Given the description of an element on the screen output the (x, y) to click on. 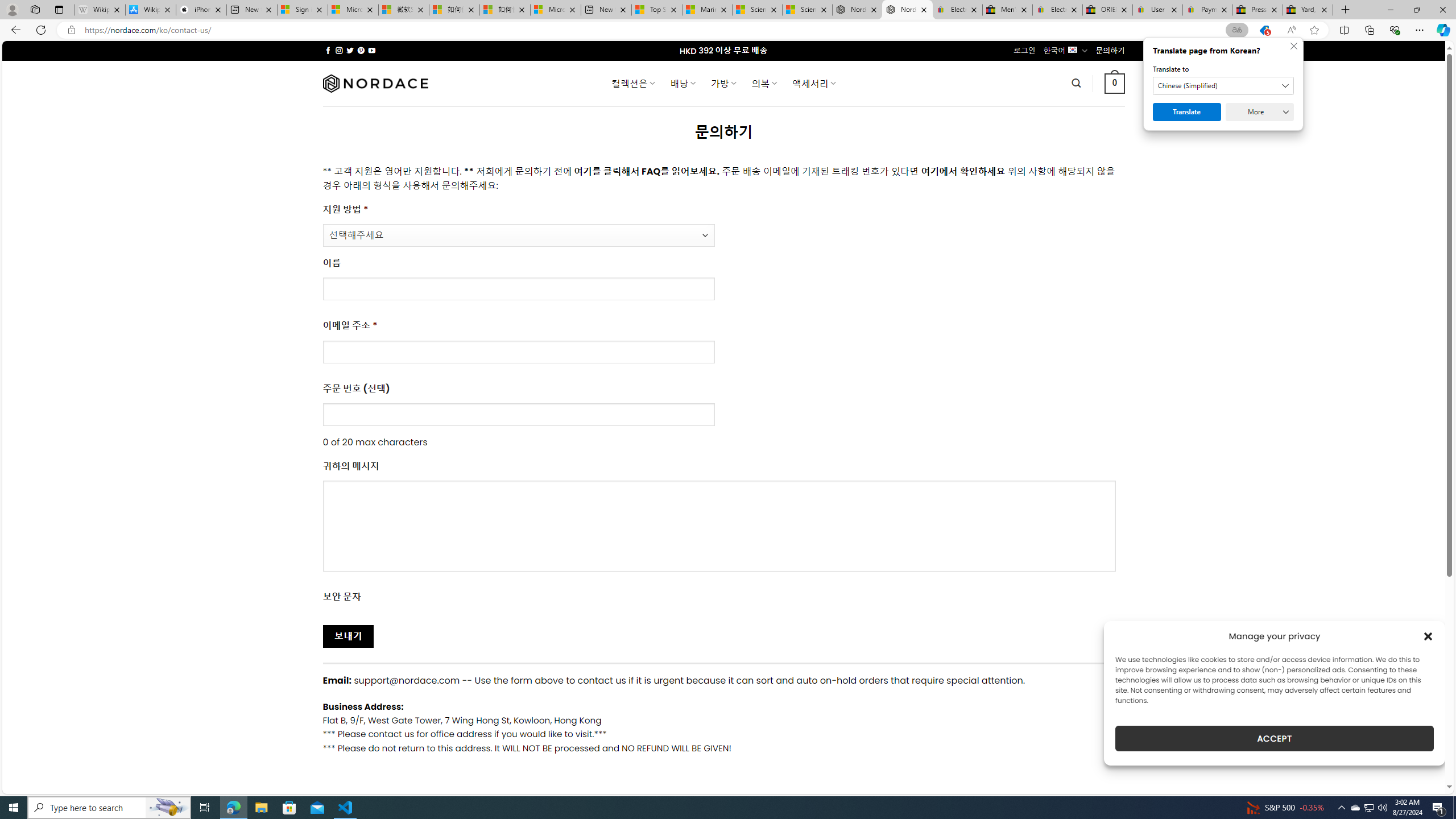
Follow on Twitter (349, 50)
Follow on Facebook (327, 50)
